Given the description of an element on the screen output the (x, y) to click on. 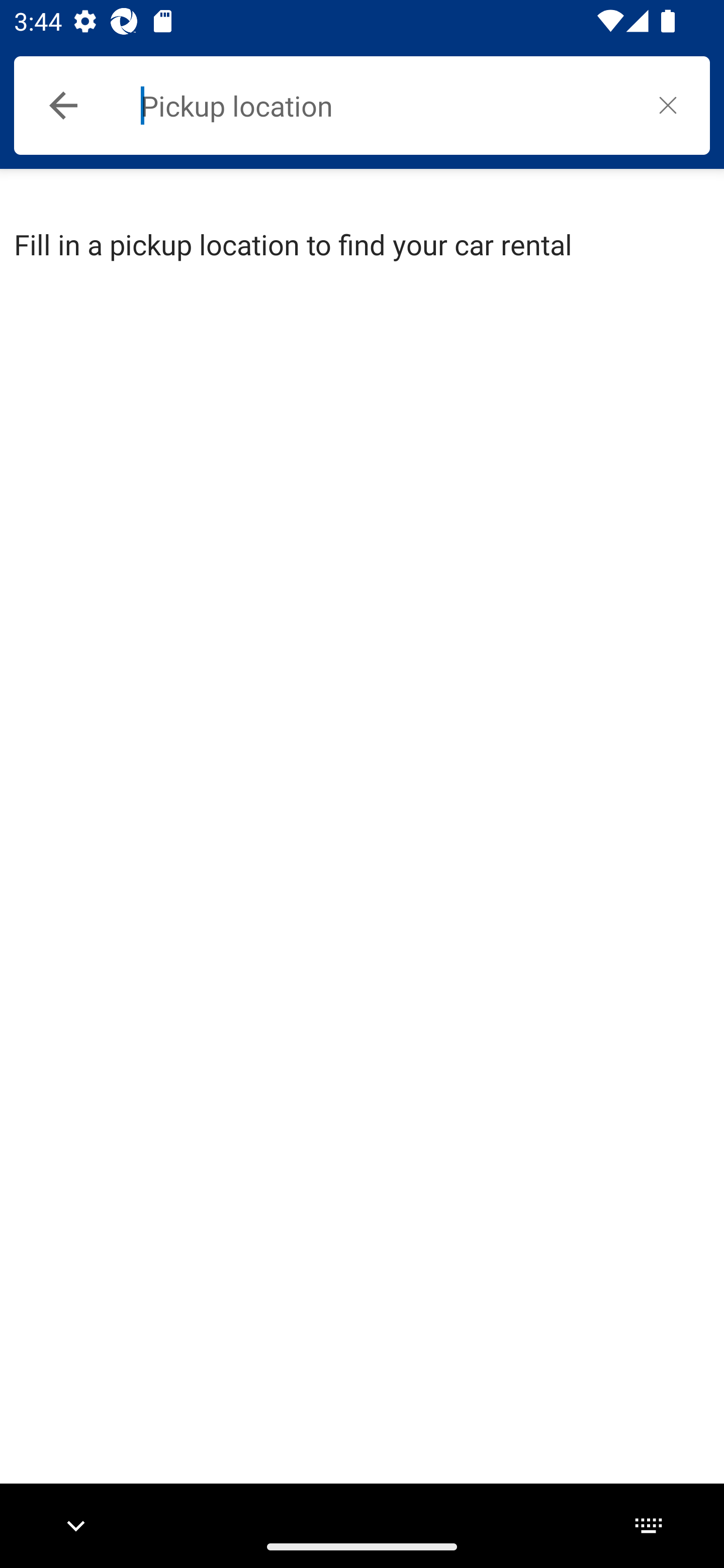
Navigate up (62, 105)
놕 (667, 104)
Pickup location (382, 105)
